Given the description of an element on the screen output the (x, y) to click on. 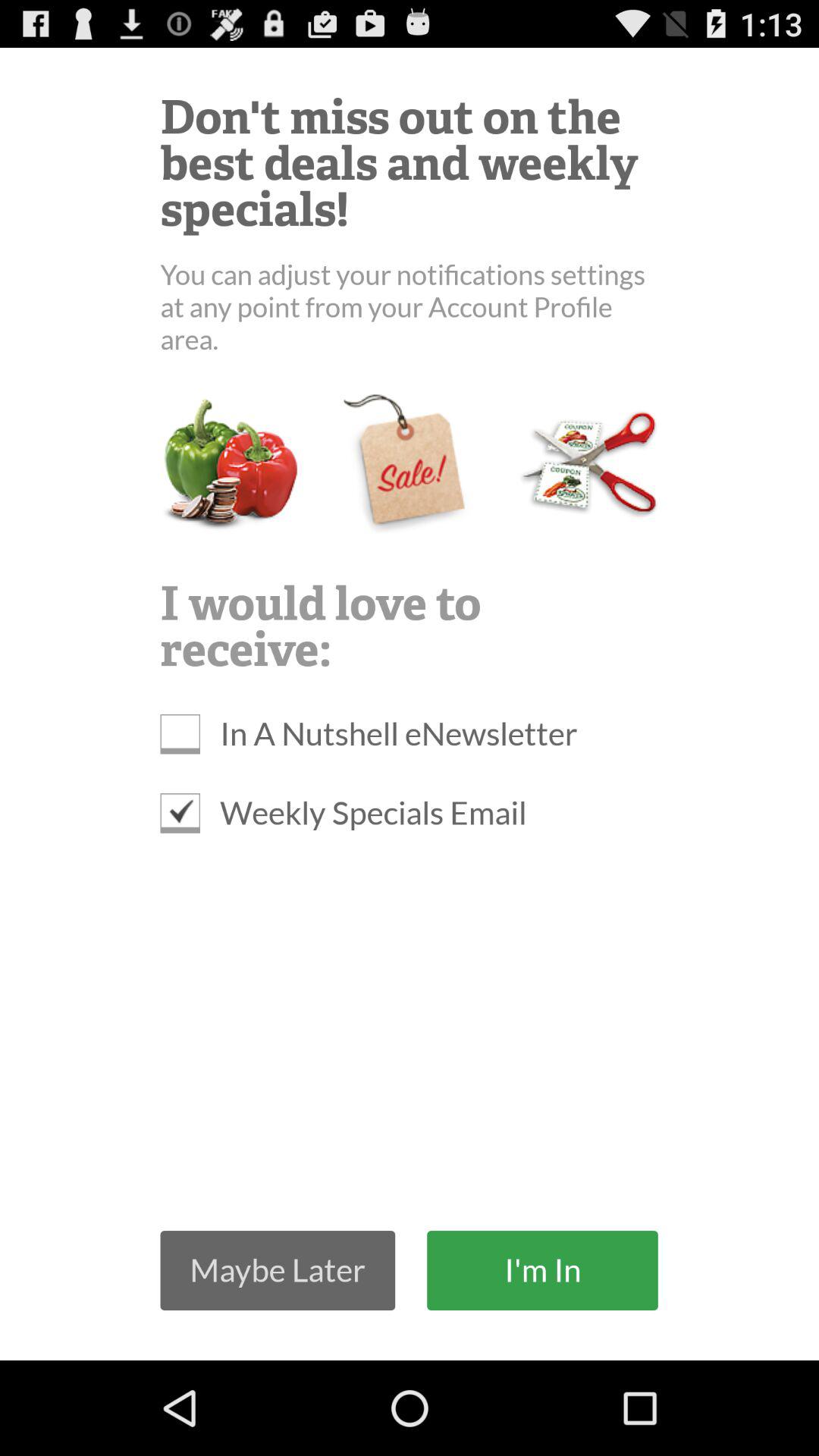
jump until the maybe later button (277, 1270)
